Given the description of an element on the screen output the (x, y) to click on. 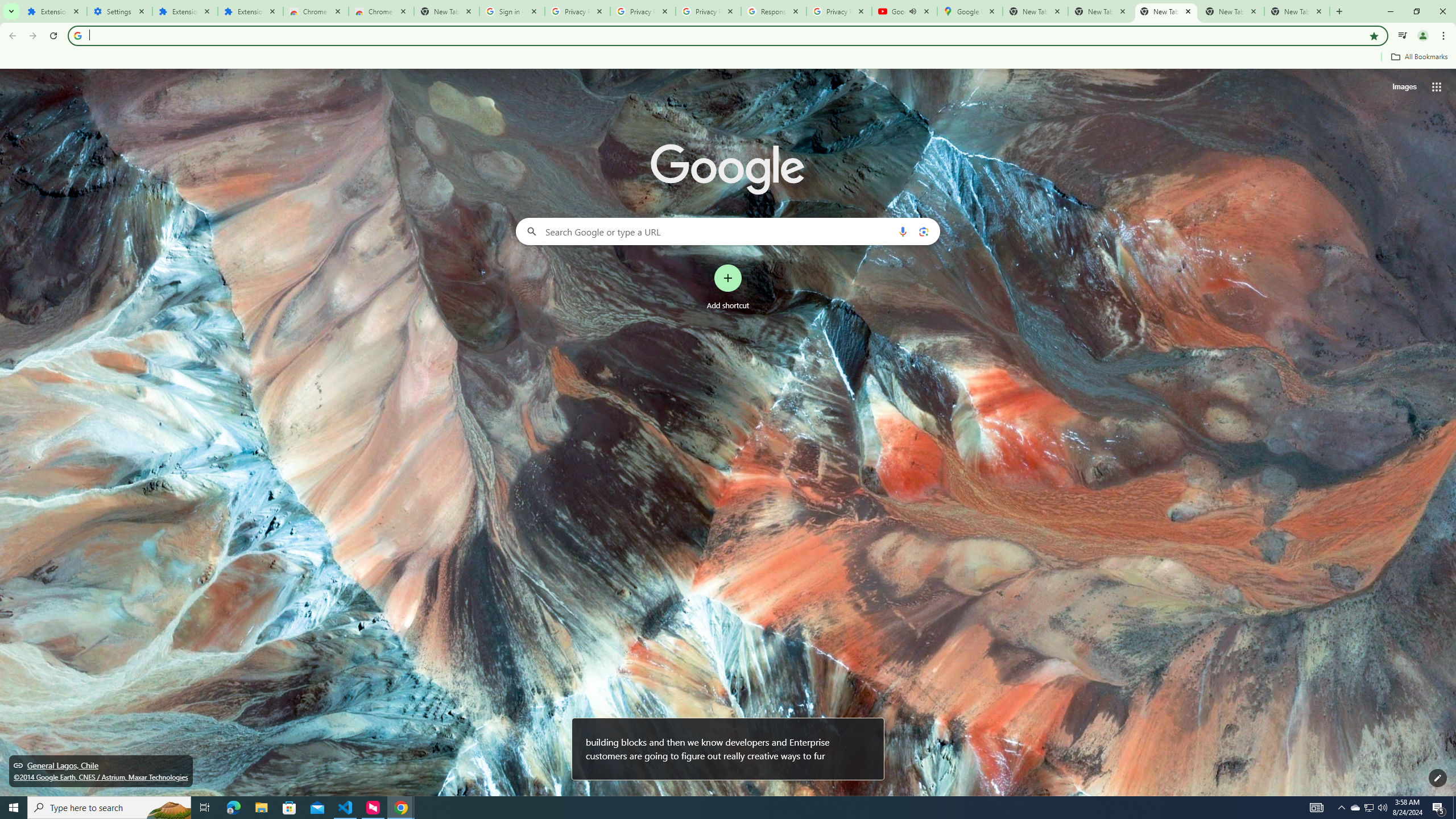
Extensions (53, 11)
New Tab (446, 11)
